Given the description of an element on the screen output the (x, y) to click on. 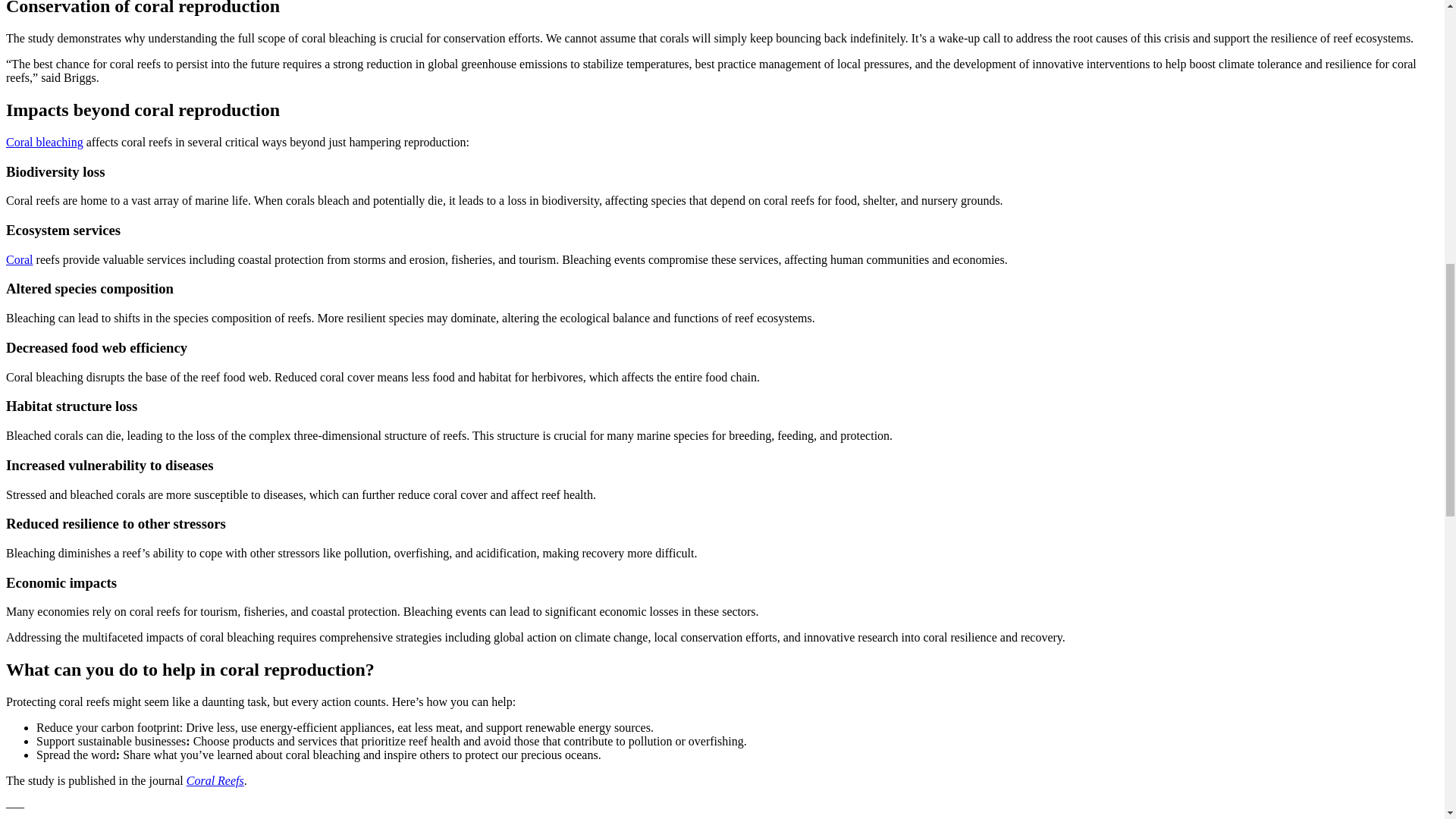
Coral (19, 259)
Coral bleaching (43, 141)
Coral Reefs (215, 780)
